Given the description of an element on the screen output the (x, y) to click on. 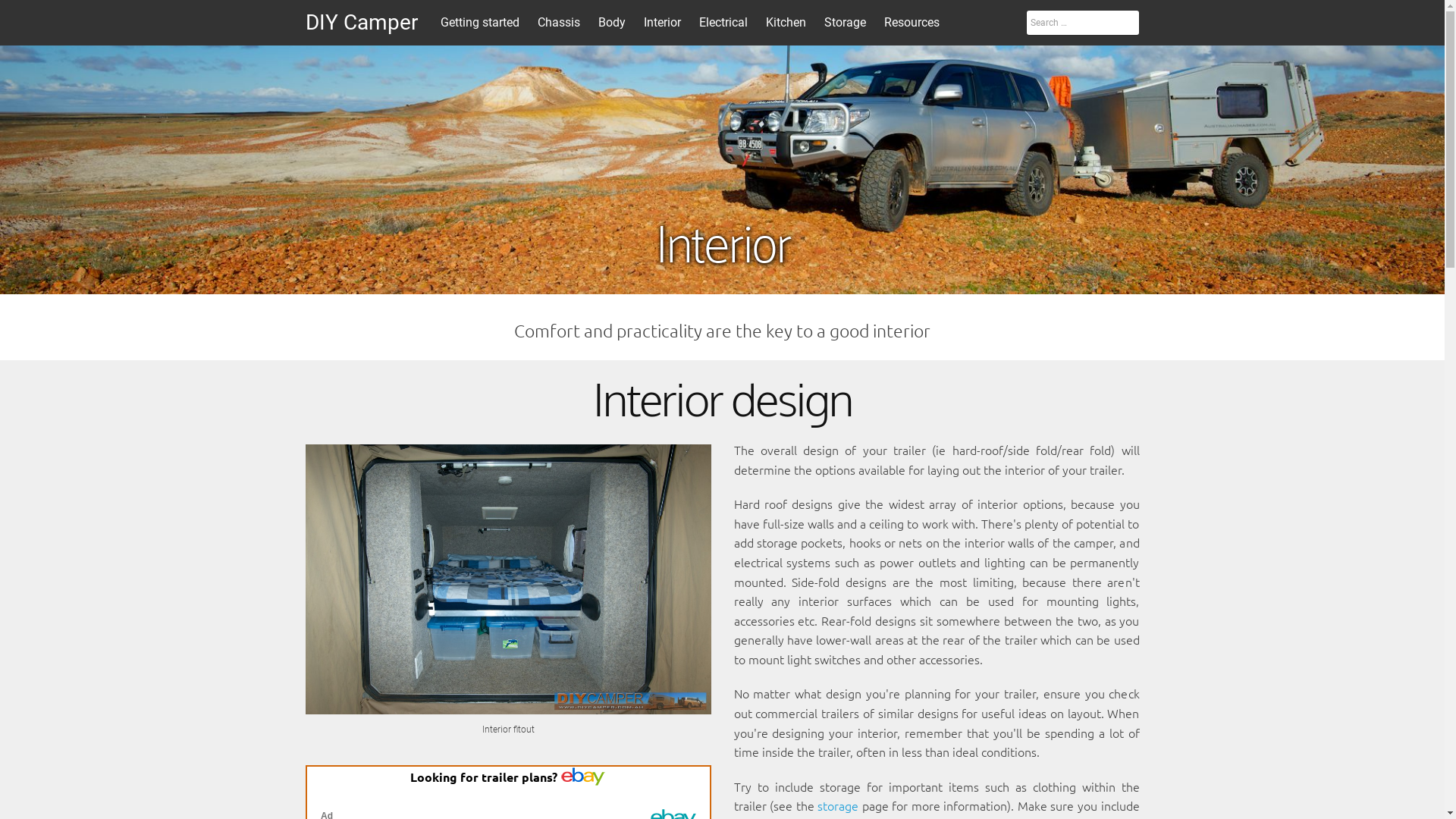
storage Element type: text (837, 805)
Storage Element type: text (843, 22)
Search Element type: text (35, 15)
Body Element type: text (610, 22)
Electrical Element type: text (723, 22)
Interior Element type: text (661, 22)
Chassis Element type: text (557, 22)
DIY Camper Element type: text (360, 22)
Resources Element type: text (911, 22)
Getting started Element type: text (479, 22)
Kitchen Element type: text (785, 22)
